Given the description of an element on the screen output the (x, y) to click on. 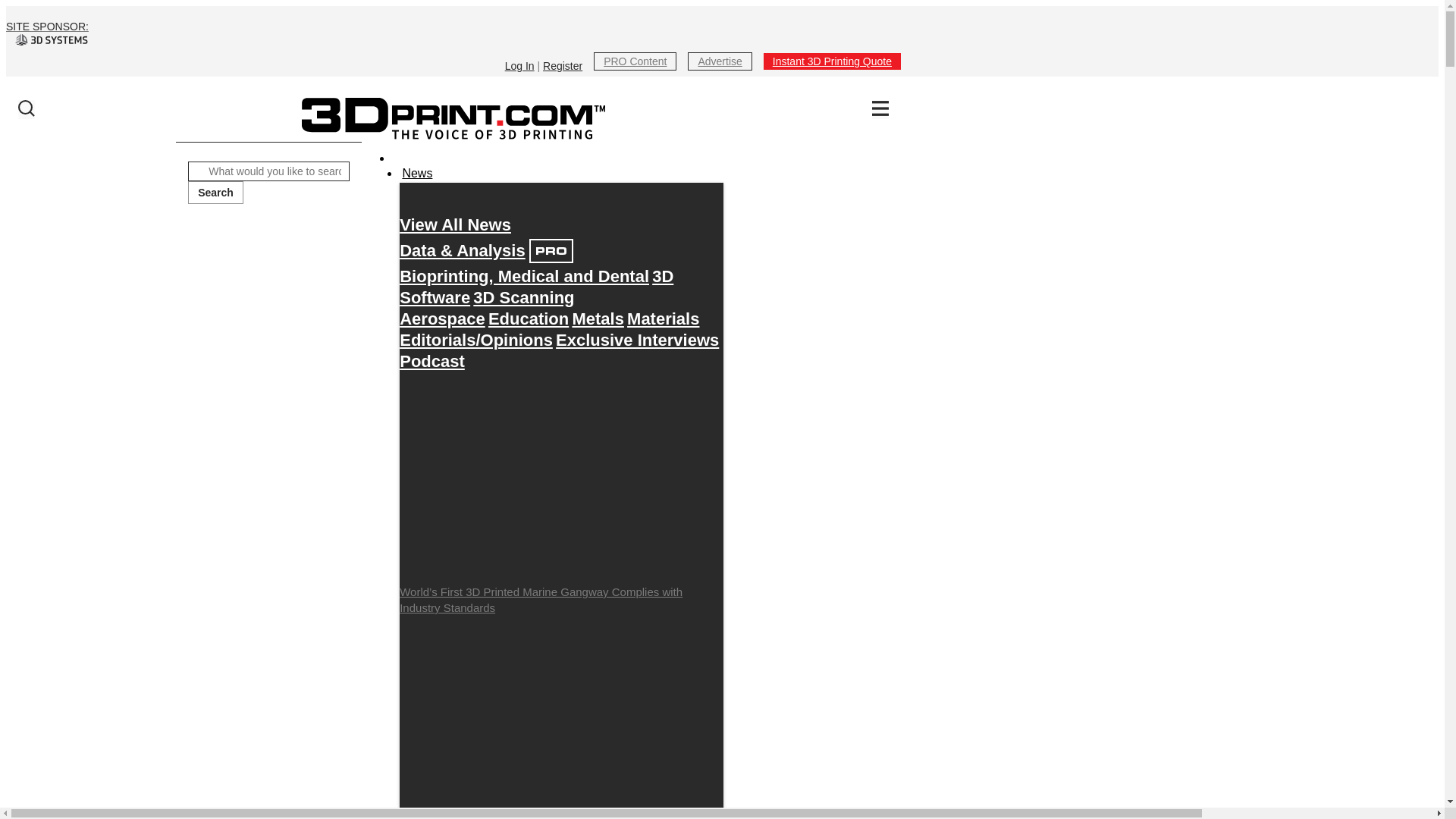
Education (528, 318)
Bioprinting, Medical and Dental (523, 276)
3DPOD 214: Brigitte de Vet-Veithen, Materialise CEO (560, 720)
Metals (597, 318)
Register (562, 65)
Search (215, 191)
News (415, 173)
Exclusive Interviews (637, 339)
View All News (454, 224)
Materials (662, 318)
